Given the description of an element on the screen output the (x, y) to click on. 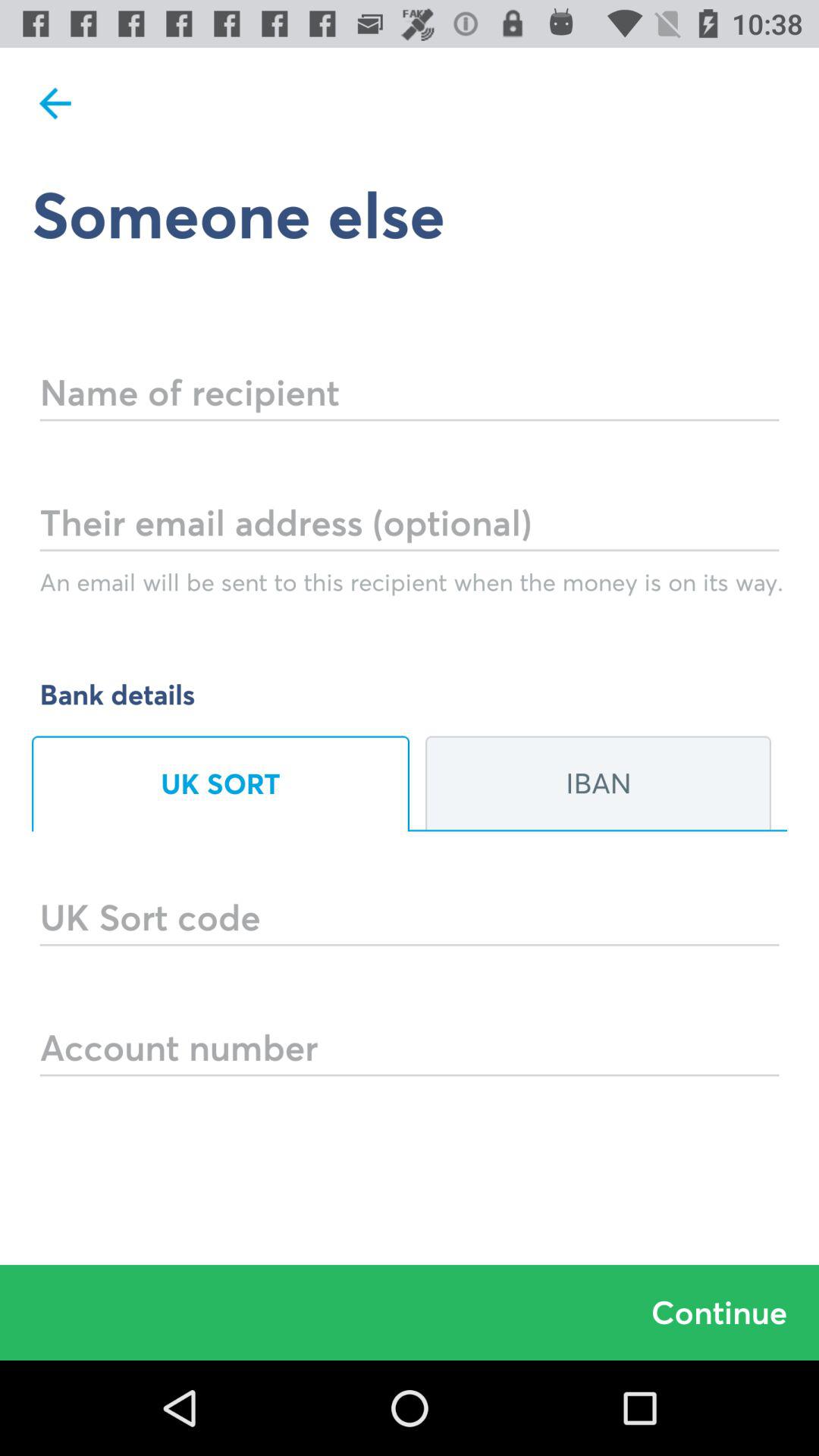
scroll until the uk sort (220, 783)
